Given the description of an element on the screen output the (x, y) to click on. 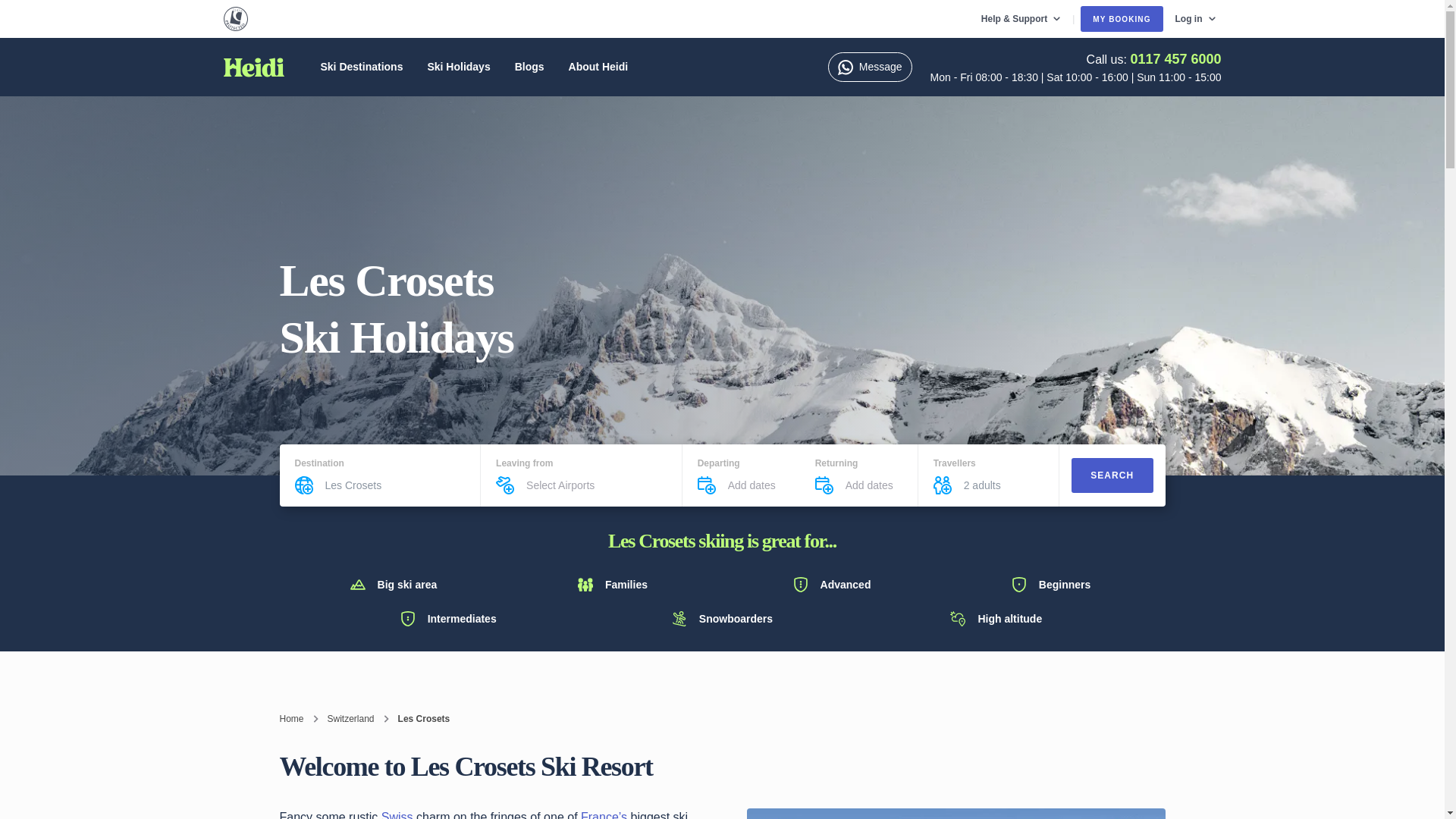
Customer reviews powered by Trustpilot (411, 18)
Message (870, 66)
View and download Les Crosets ski map (954, 813)
0117 457 6000 (1175, 59)
MY BOOKING (1120, 18)
2 adults (1003, 484)
Les Crosets (394, 484)
SEARCH (1112, 475)
Swiss (398, 814)
Switzerland (350, 718)
